Given the description of an element on the screen output the (x, y) to click on. 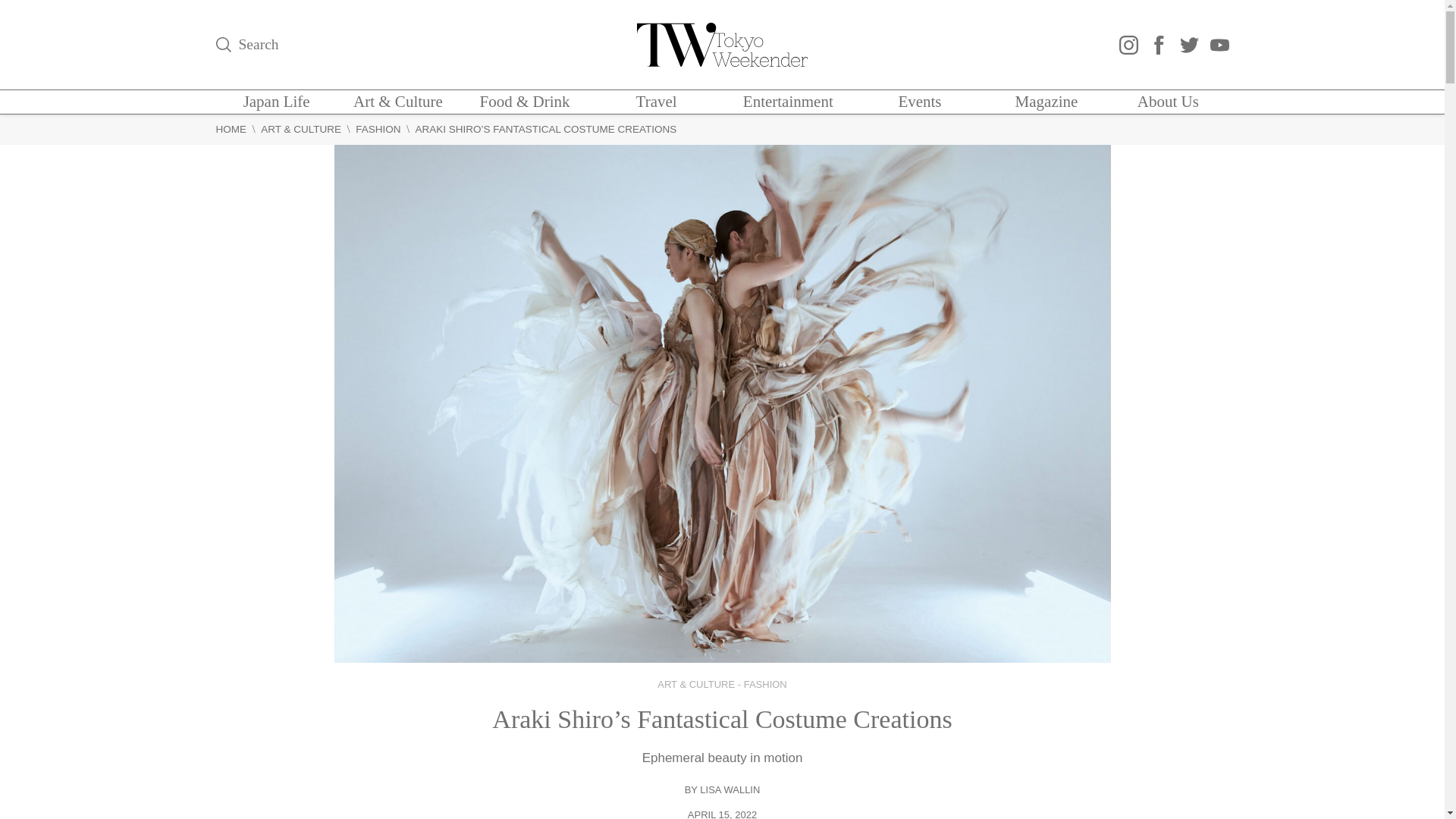
Events (919, 101)
Japan Life (276, 101)
Entertainment (787, 101)
Magazine (1046, 101)
About Us (1167, 101)
Travel (656, 101)
